Given the description of an element on the screen output the (x, y) to click on. 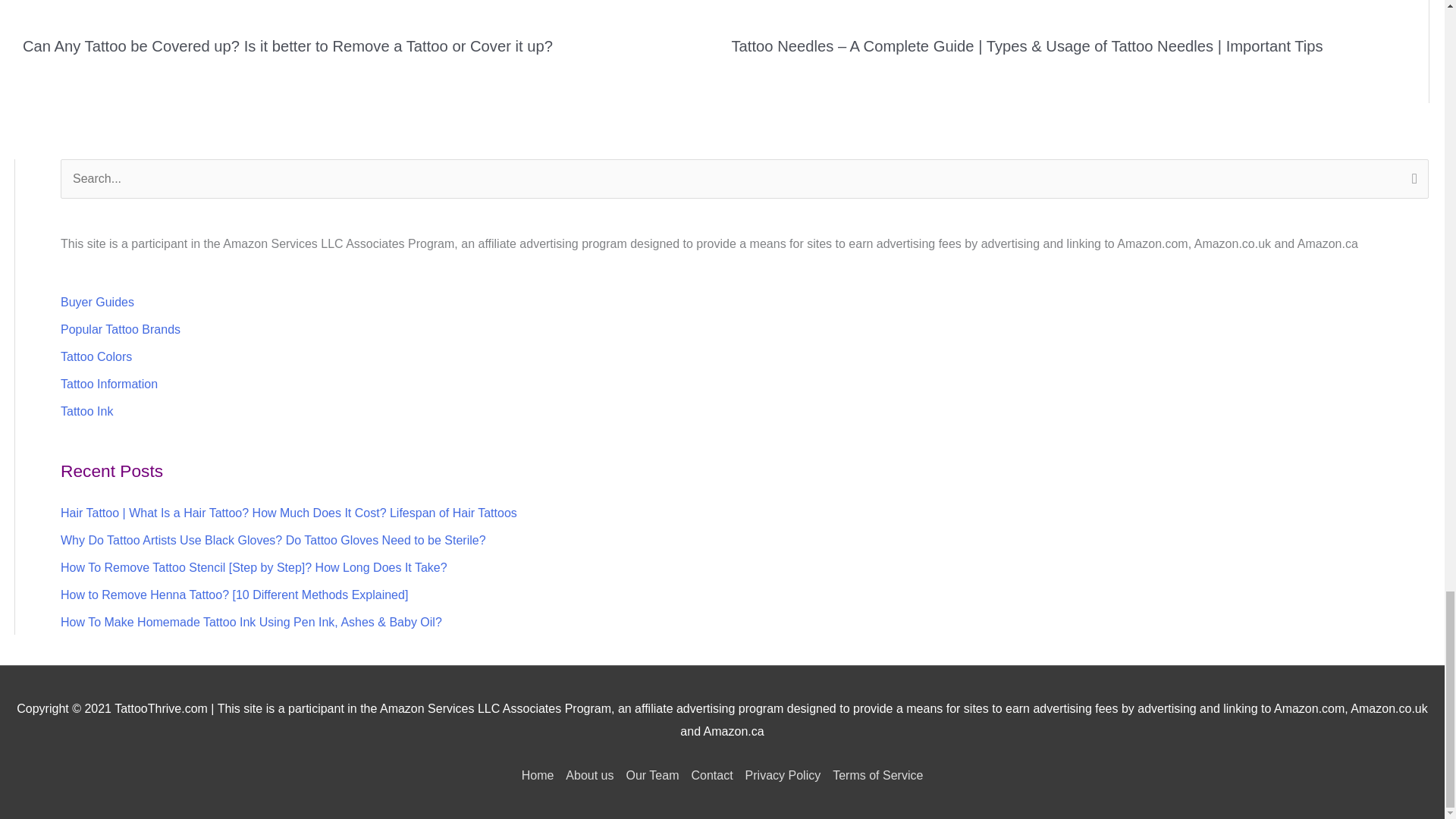
Privacy Policy (783, 775)
Tattoo Information (109, 383)
Our Team (652, 775)
Buyer Guides (97, 301)
Contact (711, 775)
Terms of Service (875, 775)
Tattoo Colors (96, 356)
Home (540, 775)
Popular Tattoo Brands (120, 328)
